Given the description of an element on the screen output the (x, y) to click on. 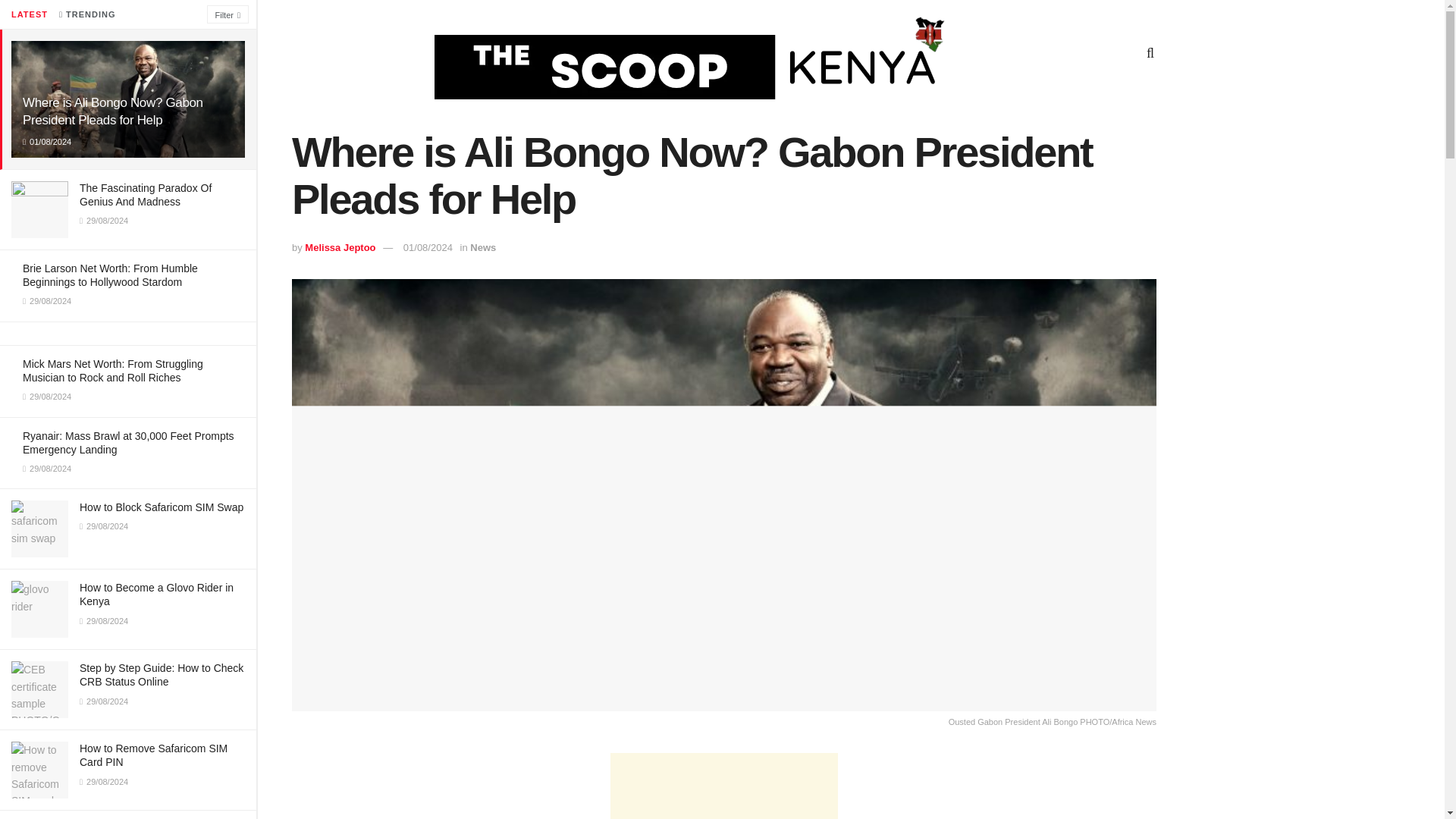
Ryanair: Mass Brawl at 30,000 Feet Prompts Emergency Landing (128, 442)
Filter (227, 13)
Step by Step Guide: How to Check CRB Status Online (161, 674)
Where is Ali Bongo Now? Gabon President Pleads for Help (113, 111)
How to Become a Glovo Rider in Kenya (156, 594)
The Fascinating Paradox Of Genius And Madness (145, 194)
How to Block Safaricom SIM Swap (161, 507)
How to Remove Safaricom SIM Card PIN (153, 755)
